Given the description of an element on the screen output the (x, y) to click on. 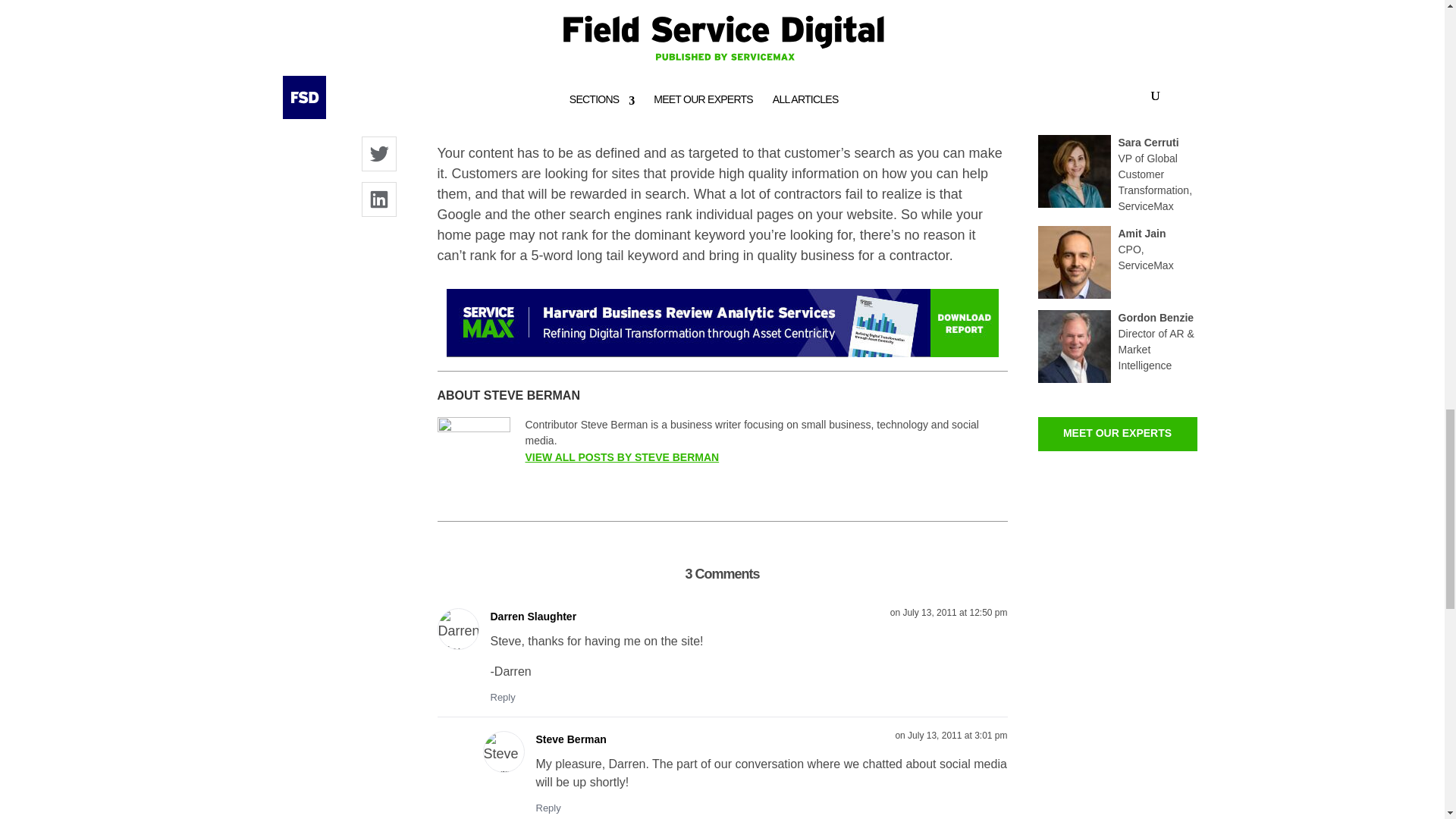
Steve Berman (570, 739)
Reply (502, 697)
VIEW ALL POSTS BY STEVE BERMAN (621, 457)
DarrenSlaughter.com (550, 31)
Darren Slaughter (532, 616)
